Given the description of an element on the screen output the (x, y) to click on. 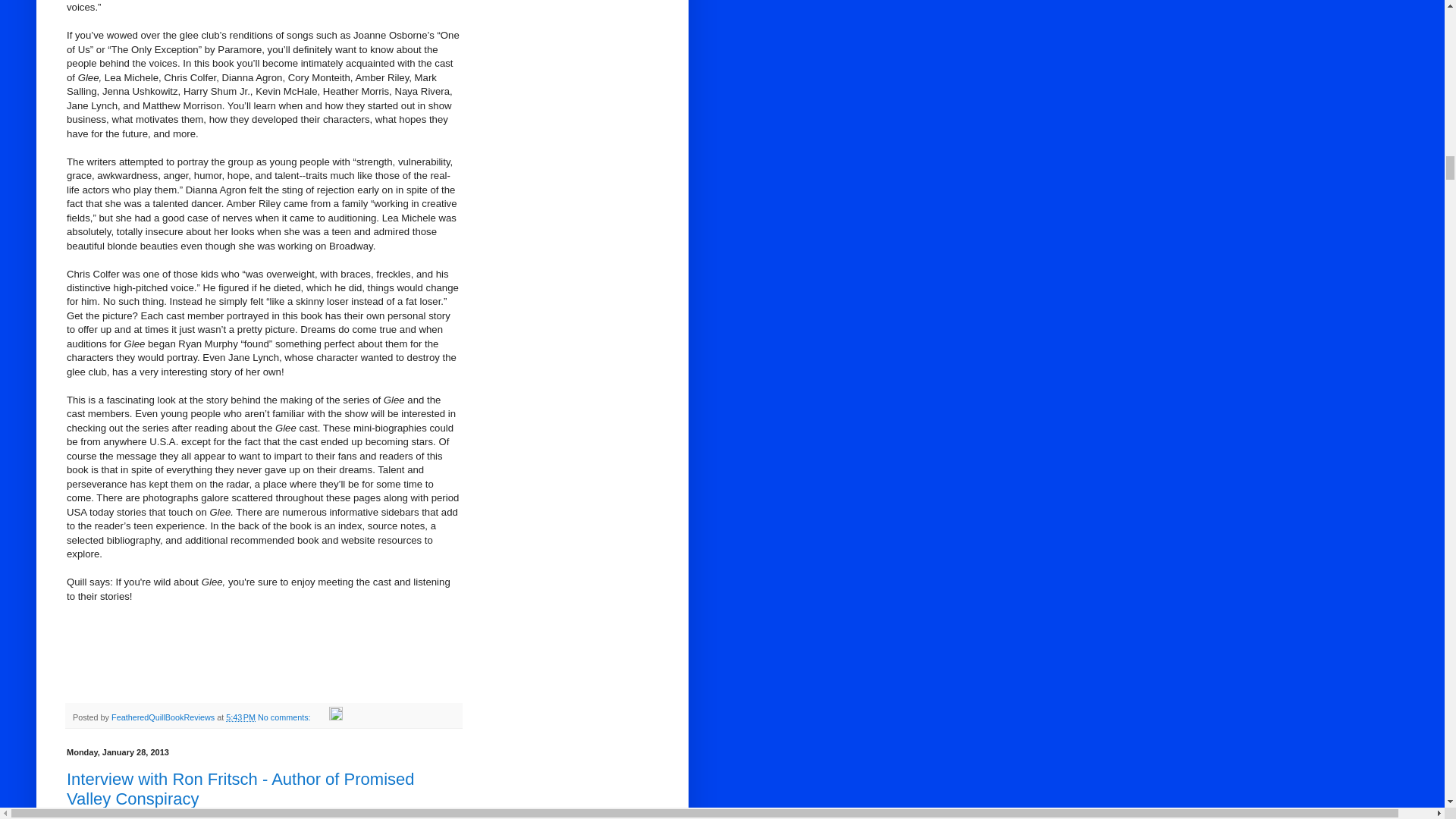
FeatheredQuillBookReviews (164, 716)
No comments: (285, 716)
